Given the description of an element on the screen output the (x, y) to click on. 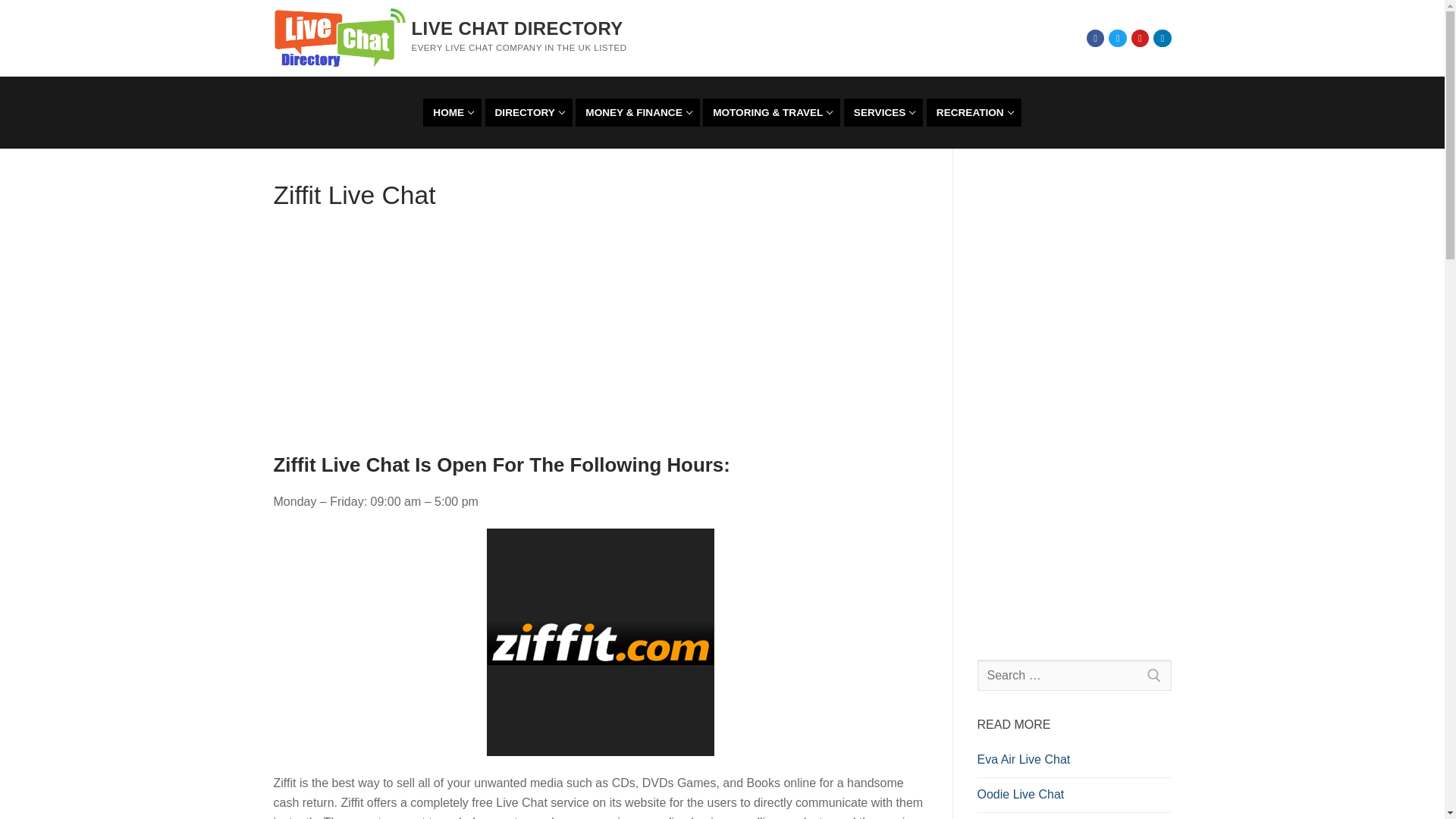
LIVE CHAT DIRECTORY (528, 112)
Twitter (516, 28)
Advertisement (1117, 38)
Linkedin (452, 112)
Youtube (586, 336)
Search for: (1162, 38)
Facebook (1139, 38)
